Given the description of an element on the screen output the (x, y) to click on. 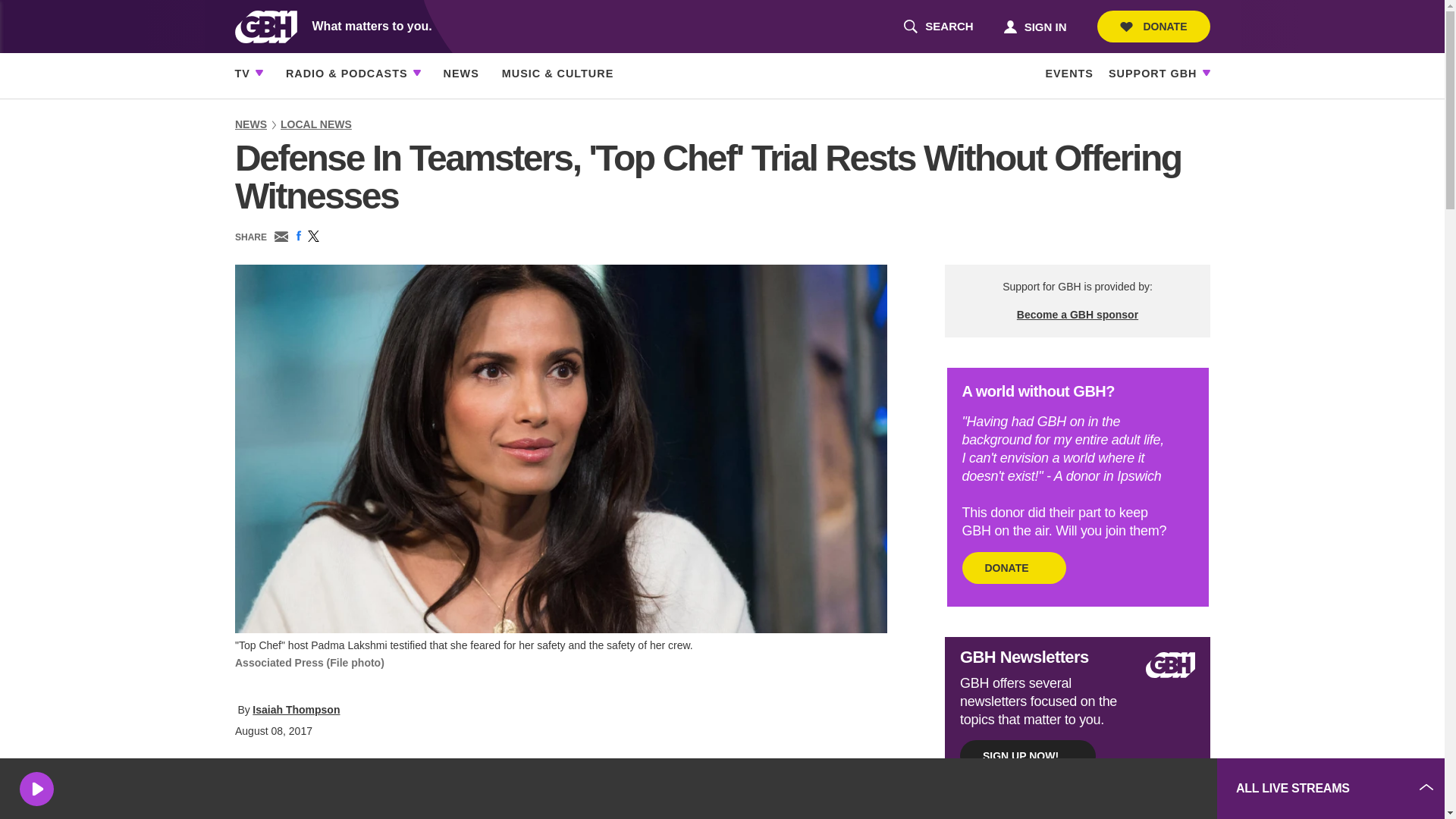
TV (242, 73)
SIGN IN (1034, 25)
DONATE (1153, 26)
Show Search (937, 26)
